Given the description of an element on the screen output the (x, y) to click on. 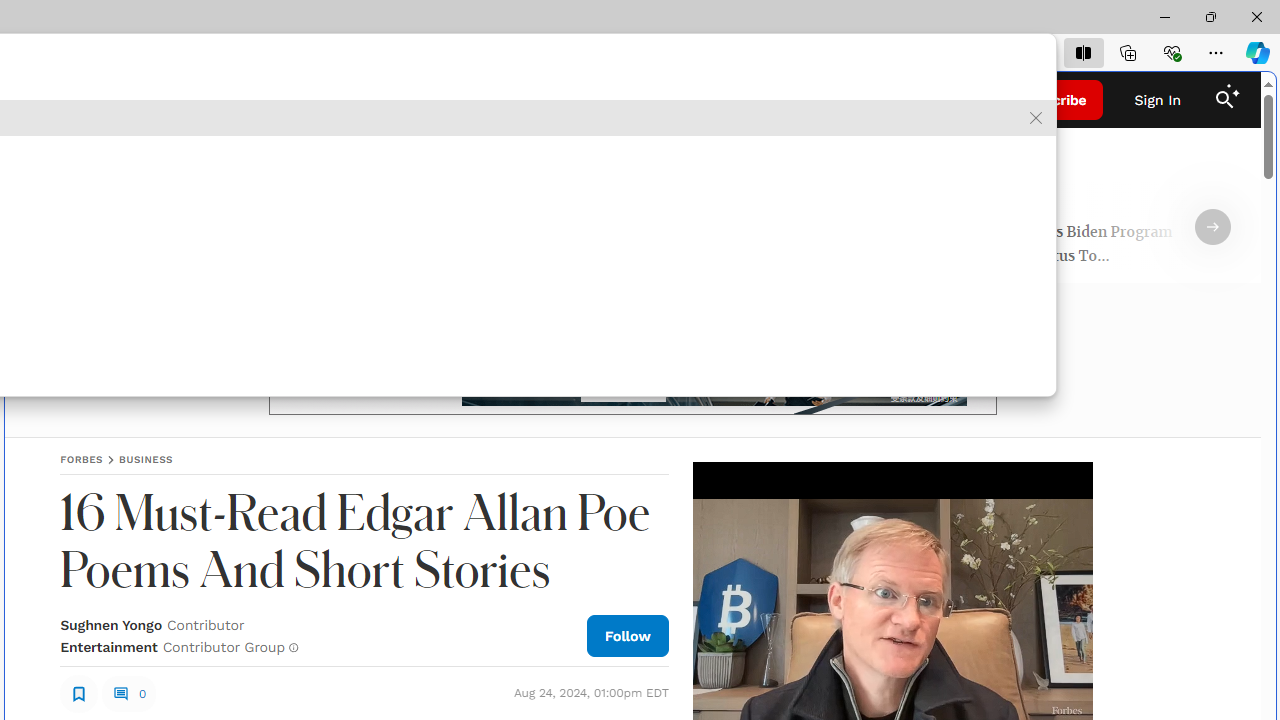
Remove suggestion (1036, 117)
Class: search_svg__fs-icon search_svg__fs-icon--search (1224, 99)
